Given the description of an element on the screen output the (x, y) to click on. 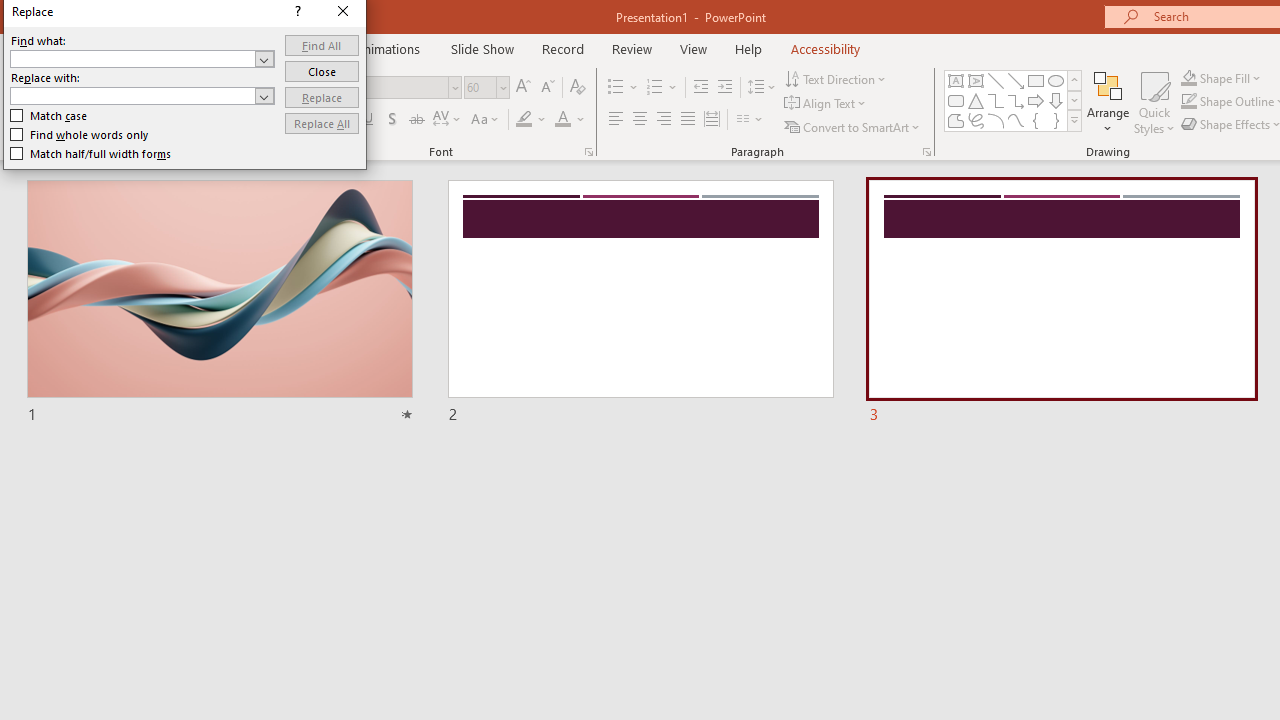
Find what (132, 58)
Find whole words only (79, 134)
Find what (142, 58)
